Given the description of an element on the screen output the (x, y) to click on. 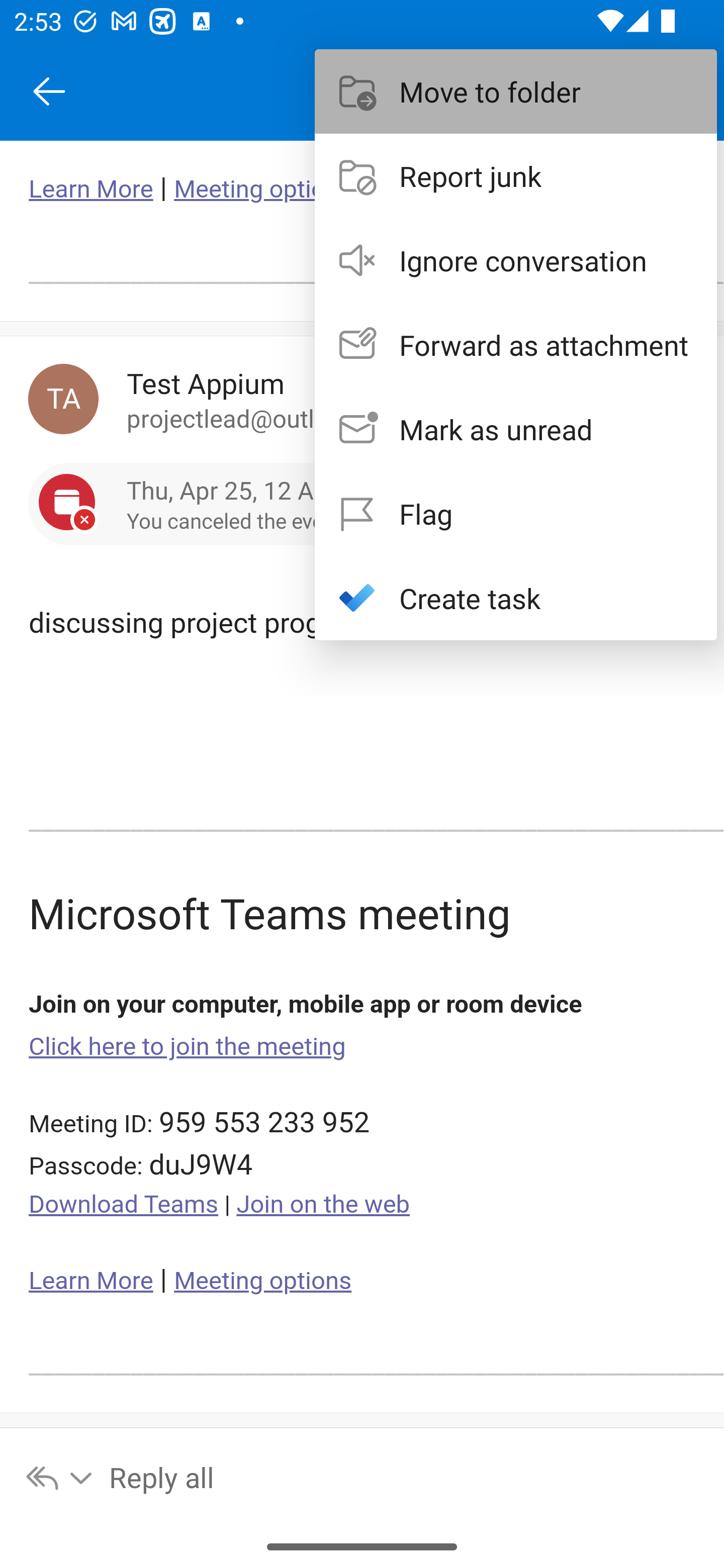
Move to folder (515, 90)
Report junk (515, 175)
Ignore conversation (515, 259)
Forward as attachment (515, 344)
Mark as unread (515, 429)
Flag (515, 513)
Create task (515, 597)
